Given the description of an element on the screen output the (x, y) to click on. 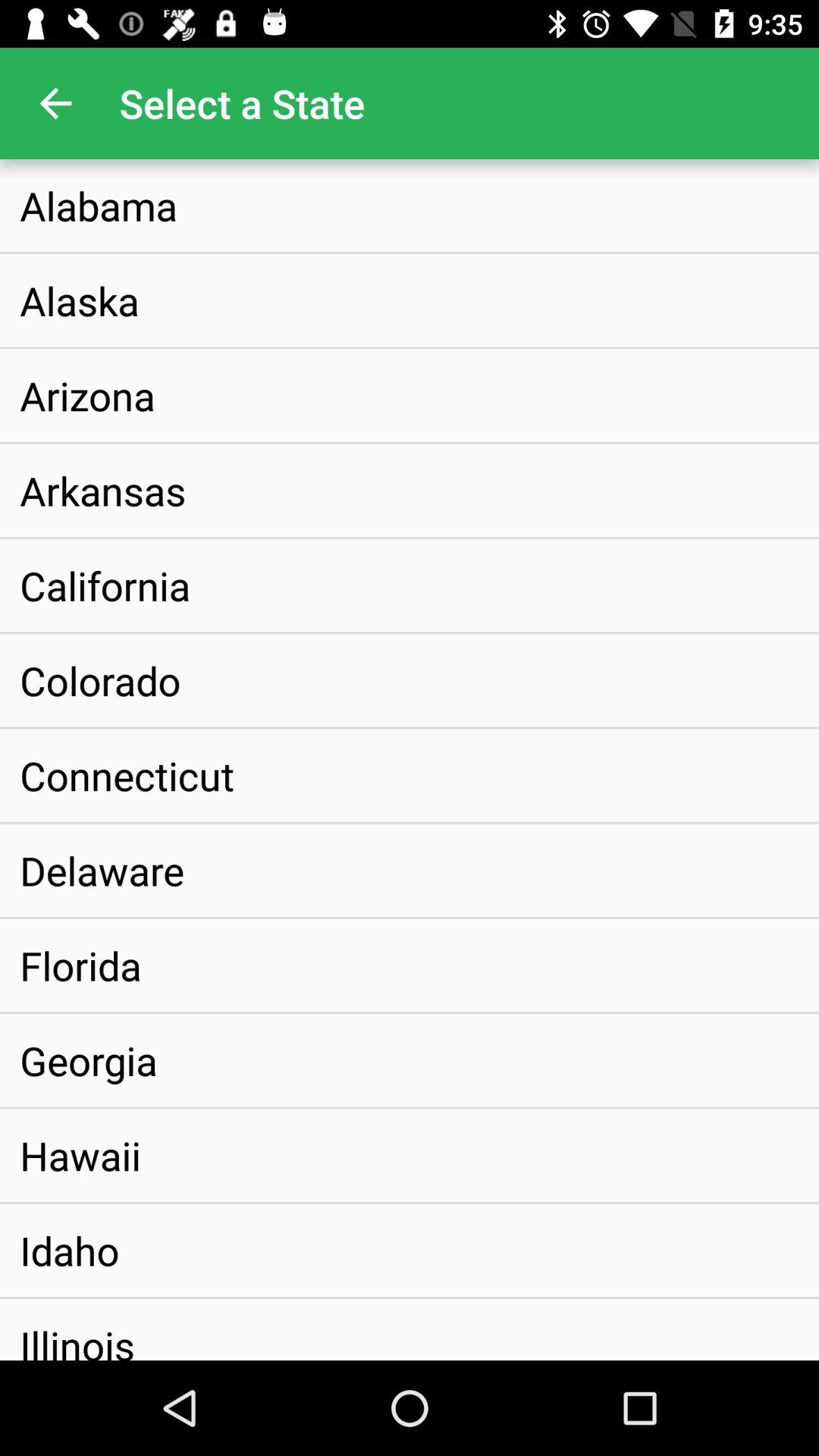
press item below the alabama icon (79, 300)
